Given the description of an element on the screen output the (x, y) to click on. 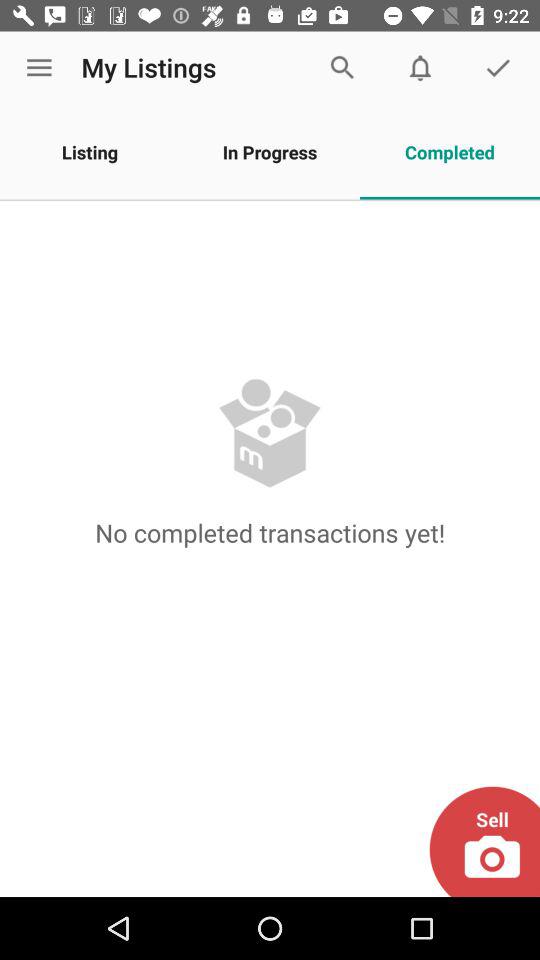
click the item next to the my listings icon (39, 67)
